Given the description of an element on the screen output the (x, y) to click on. 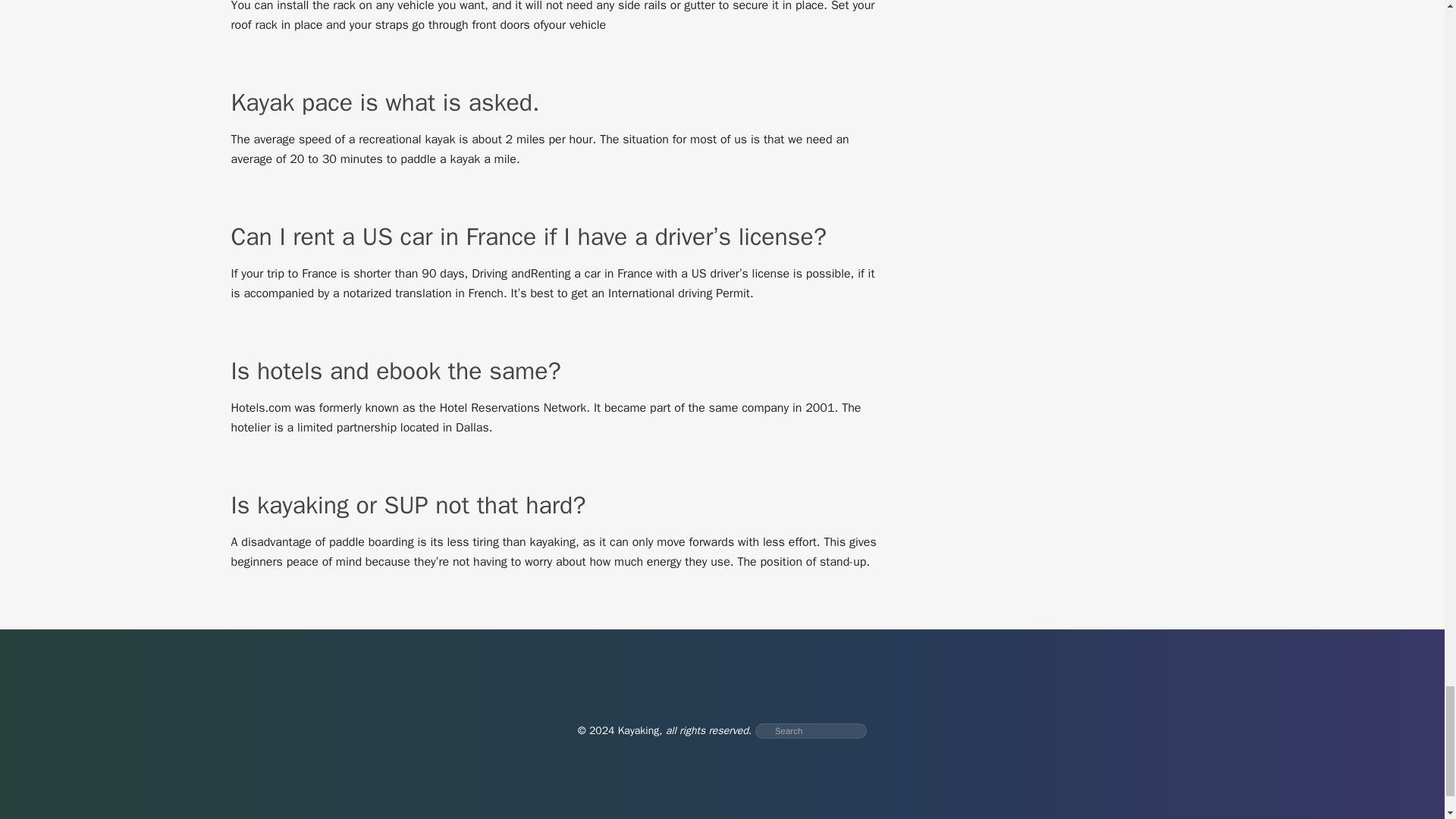
Kayaking (638, 730)
